Given the description of an element on the screen output the (x, y) to click on. 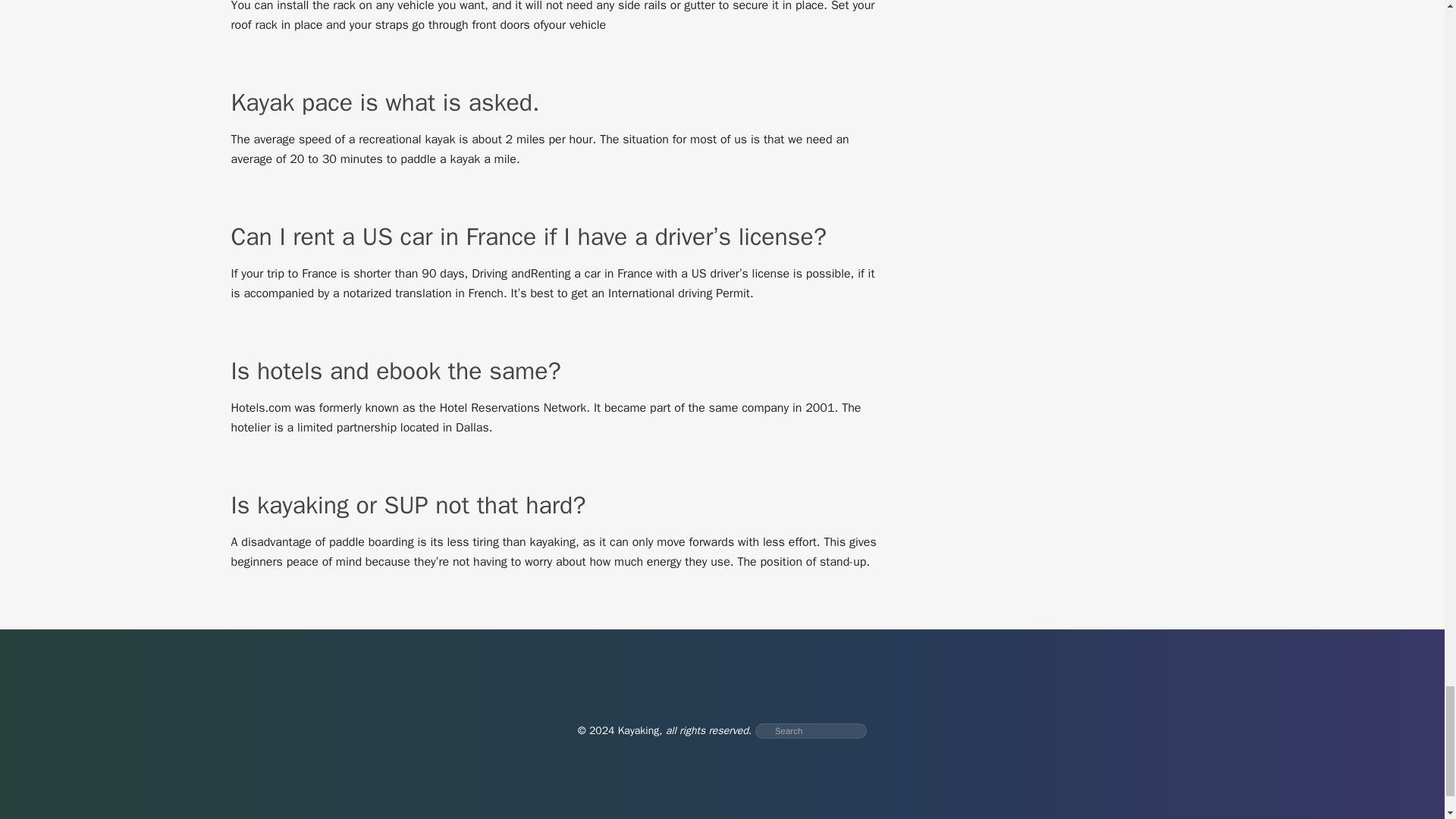
Kayaking (638, 730)
